Given the description of an element on the screen output the (x, y) to click on. 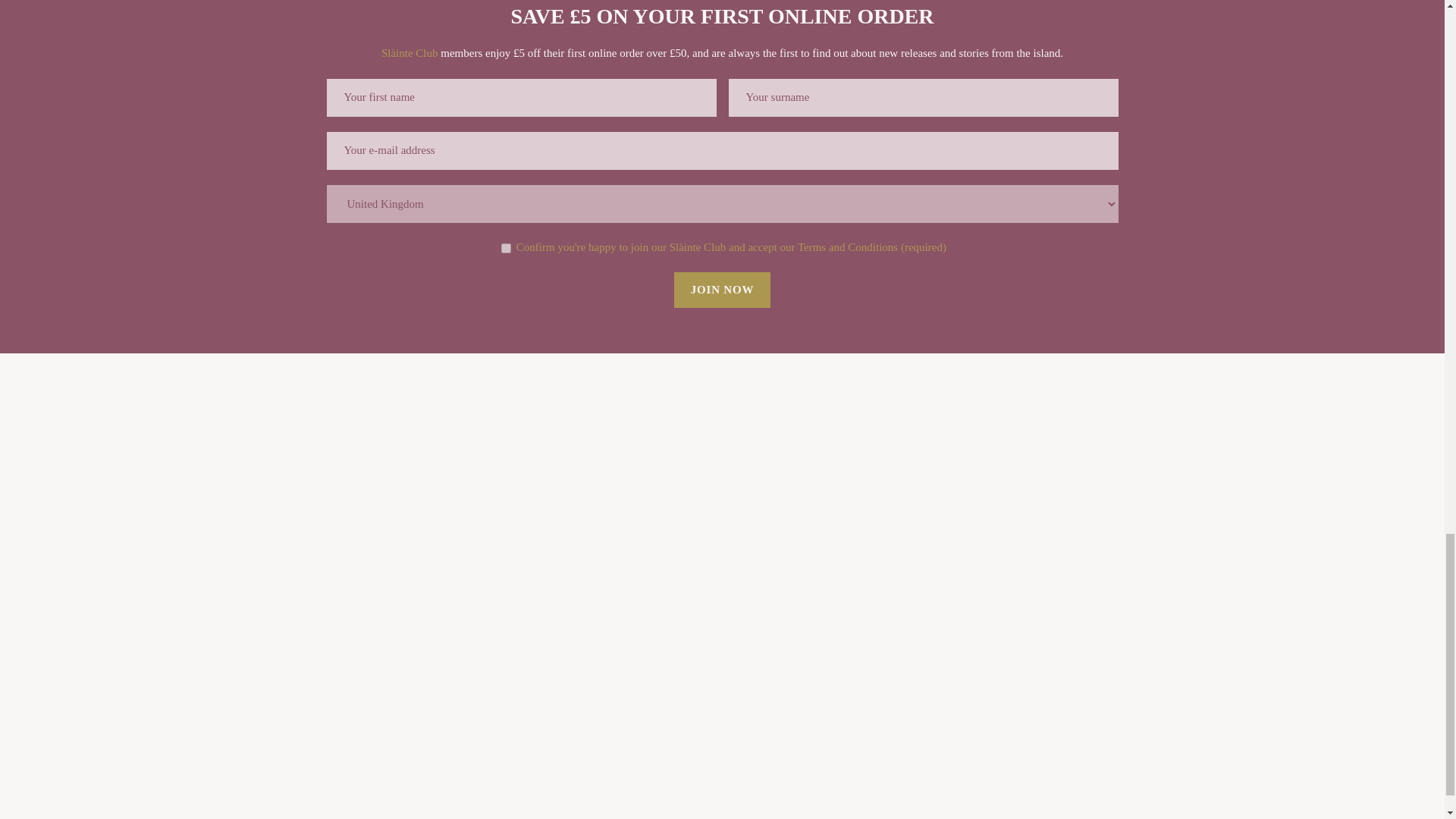
Join Now (722, 289)
1 (505, 248)
